Given the description of an element on the screen output the (x, y) to click on. 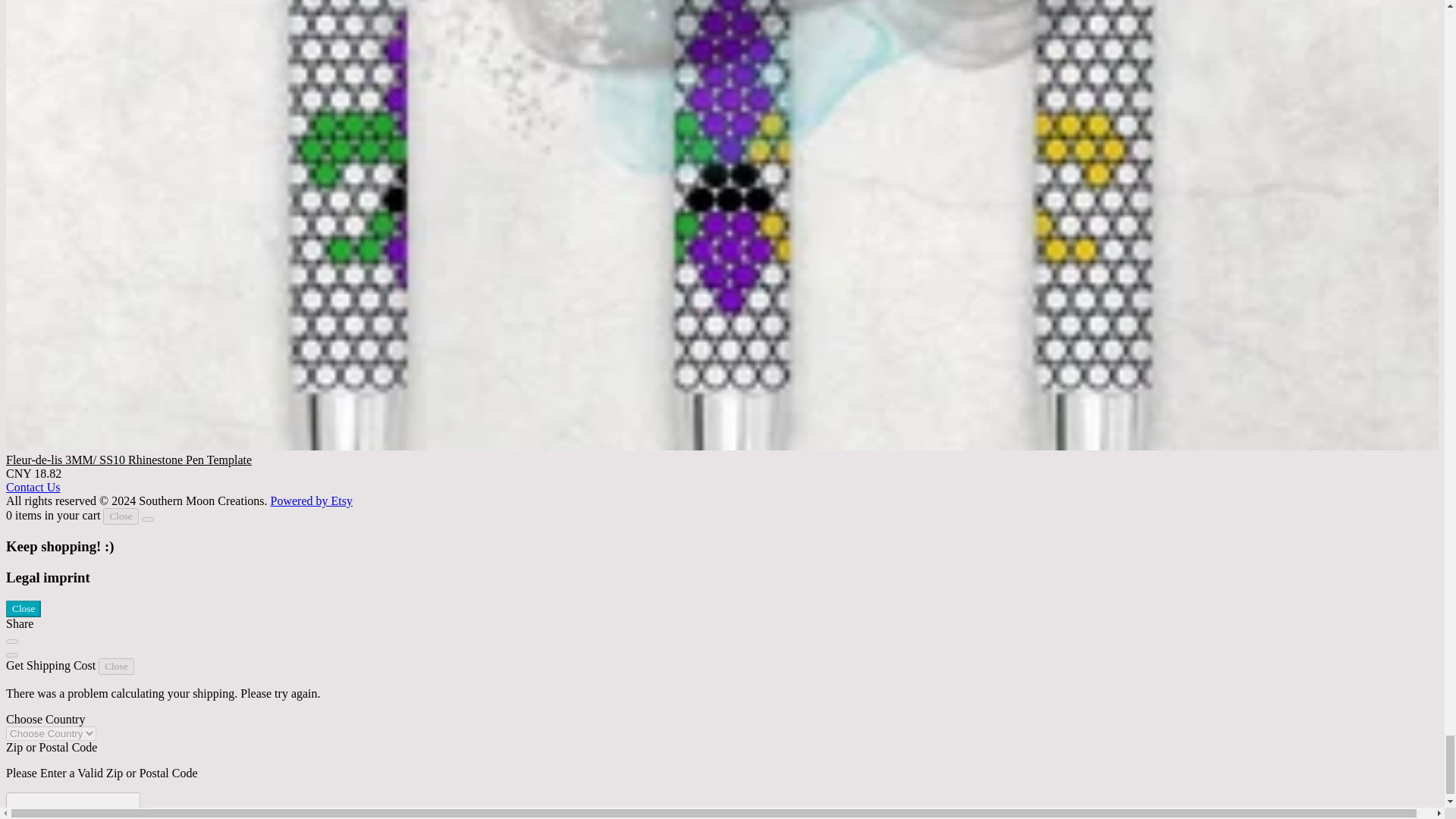
Close (120, 515)
Close (22, 608)
Close (116, 666)
Powered by Etsy (311, 500)
Contact Us (33, 486)
